Given the description of an element on the screen output the (x, y) to click on. 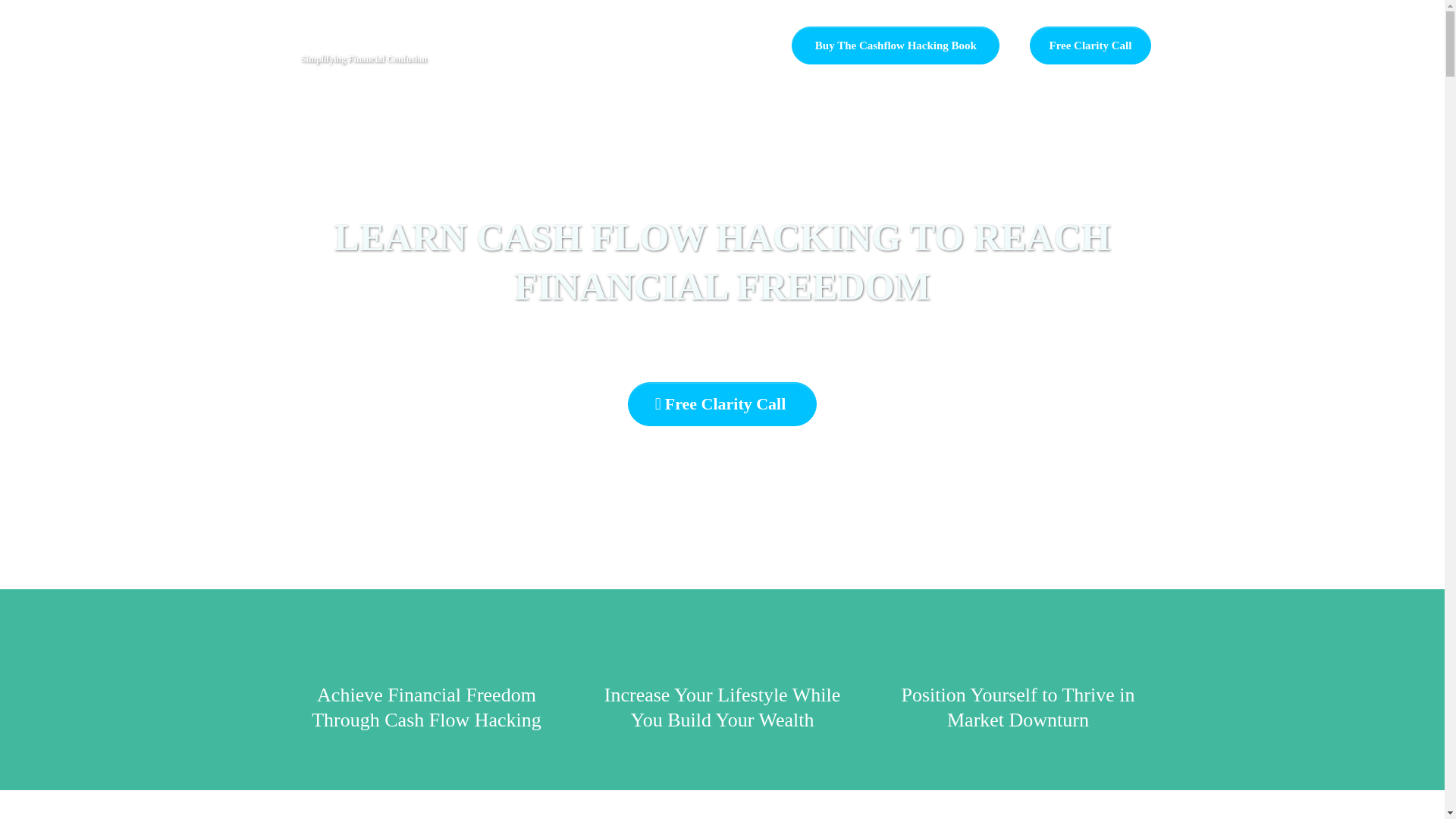
Free Clarity Call (721, 403)
Buy The Cashflow Hacking Book (895, 45)
Free Clarity Call (1089, 45)
